Given the description of an element on the screen output the (x, y) to click on. 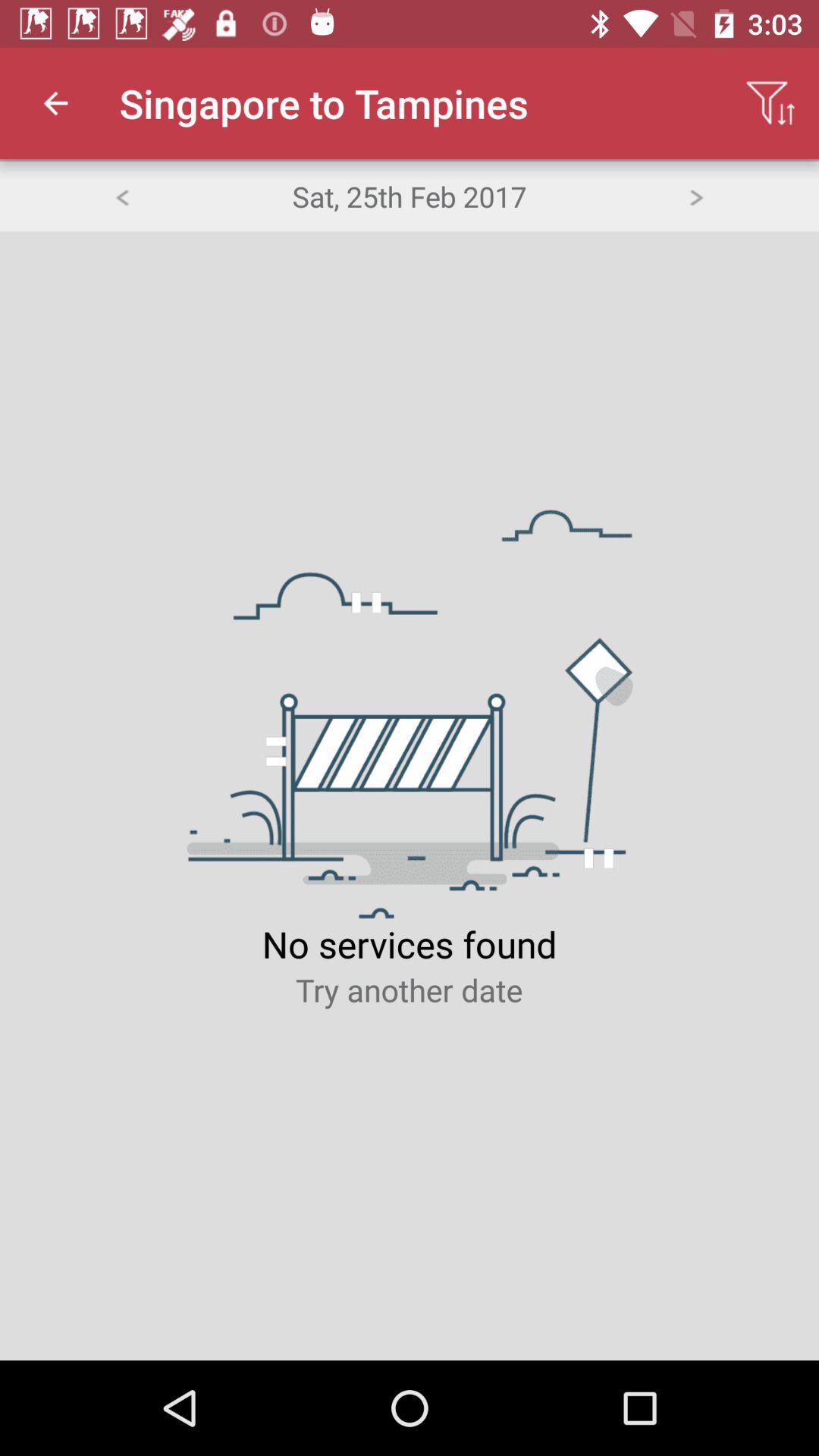
turn off item next to sat 25th feb icon (121, 196)
